Given the description of an element on the screen output the (x, y) to click on. 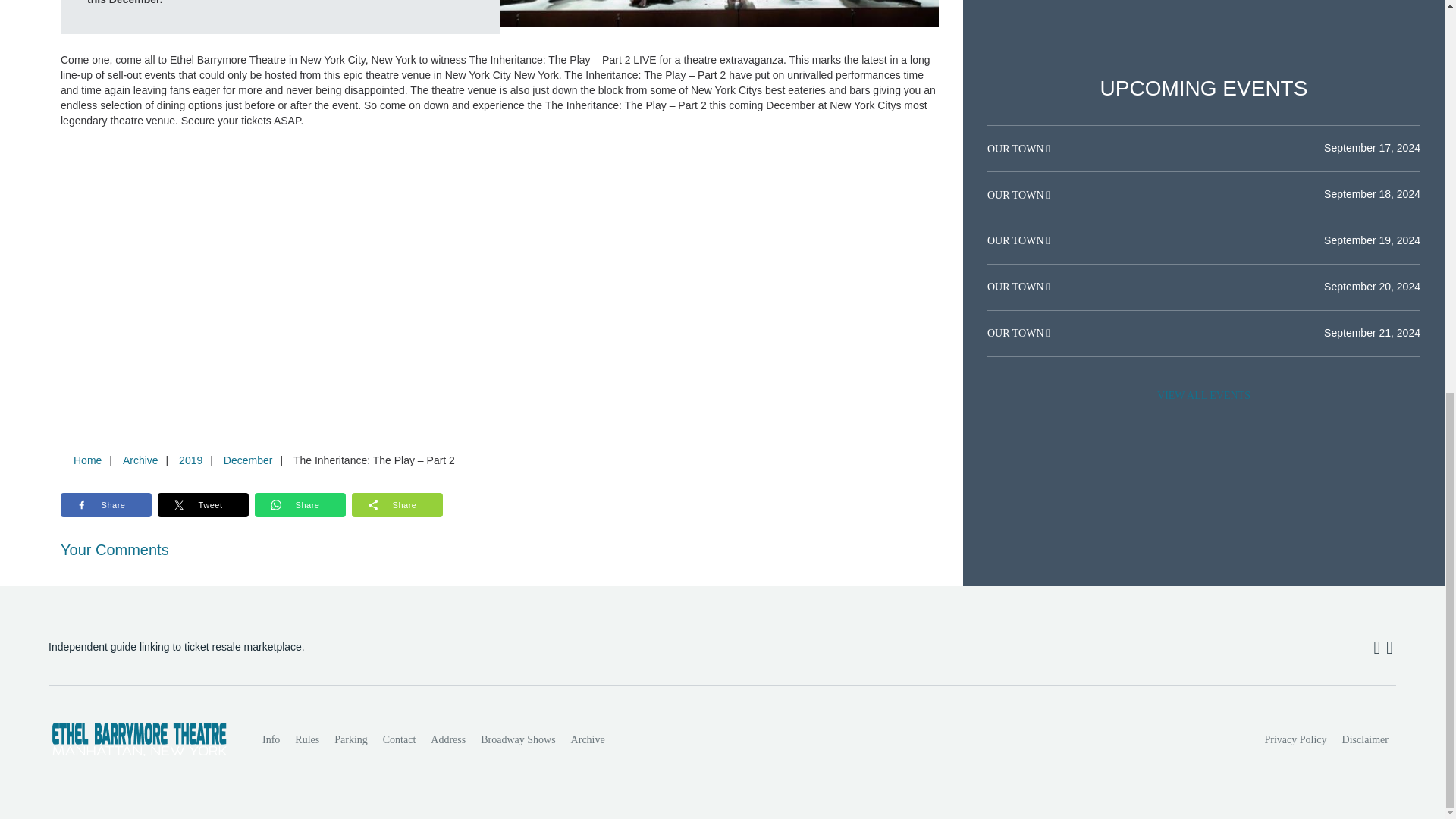
Advertisement (1204, 14)
Broadway Shows (517, 739)
Parking (350, 739)
Rules (306, 739)
Archive (587, 739)
VIEW ALL EVENTS (1203, 395)
2019 (190, 460)
Home (87, 460)
Address (448, 739)
December (248, 460)
Contact (399, 739)
Disclaimer (1365, 739)
Archive (140, 460)
Info (270, 739)
